Given the description of an element on the screen output the (x, y) to click on. 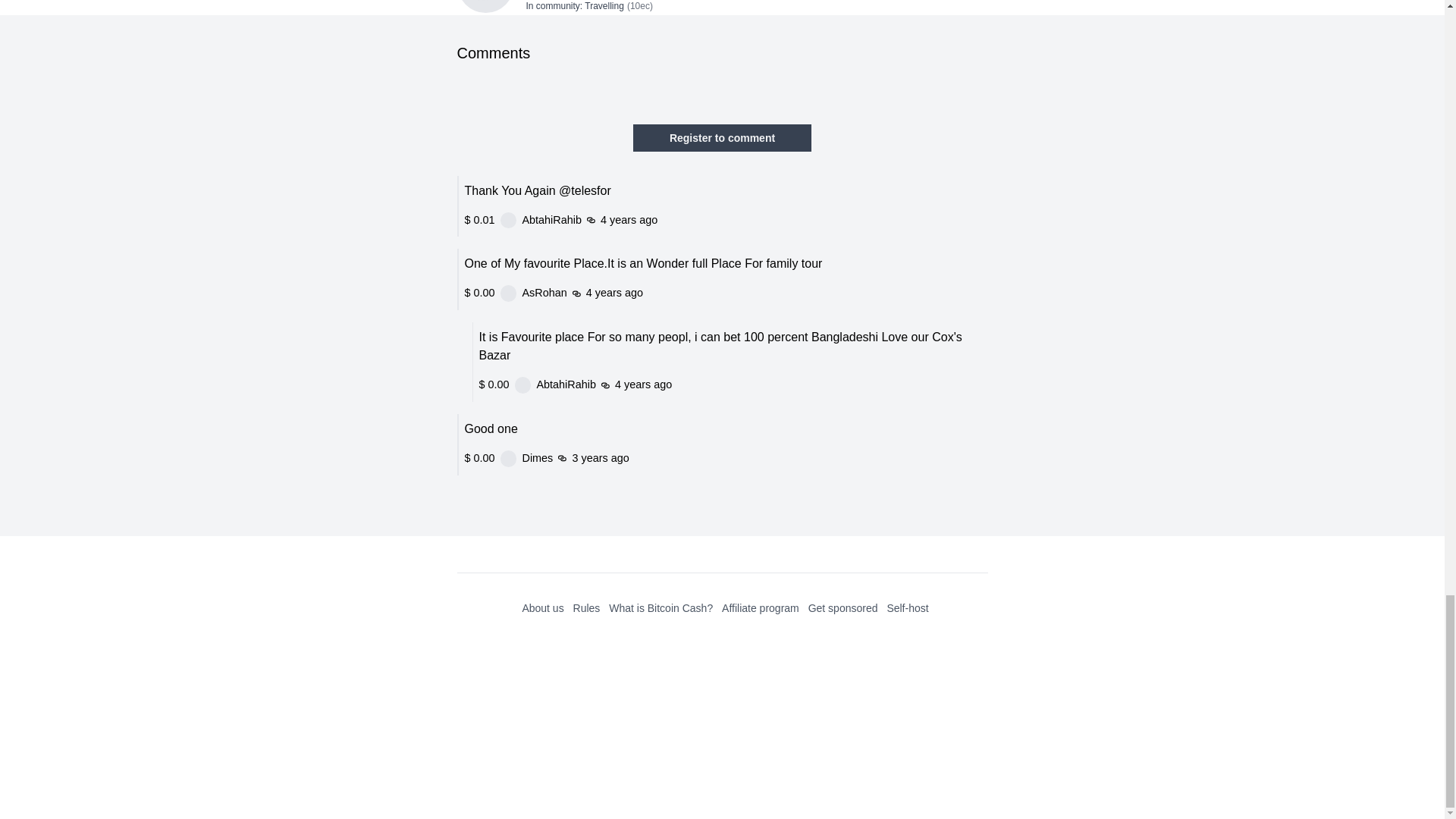
What is Bitcoin Cash? (660, 607)
Dimes (596, 760)
AsRohan (604, 577)
AbtahiRahib (612, 495)
Get sponsored (842, 607)
About us (542, 607)
Self-host (907, 607)
Affiliate program (760, 607)
Register to comment (721, 137)
Rules (586, 607)
